Given the description of an element on the screen output the (x, y) to click on. 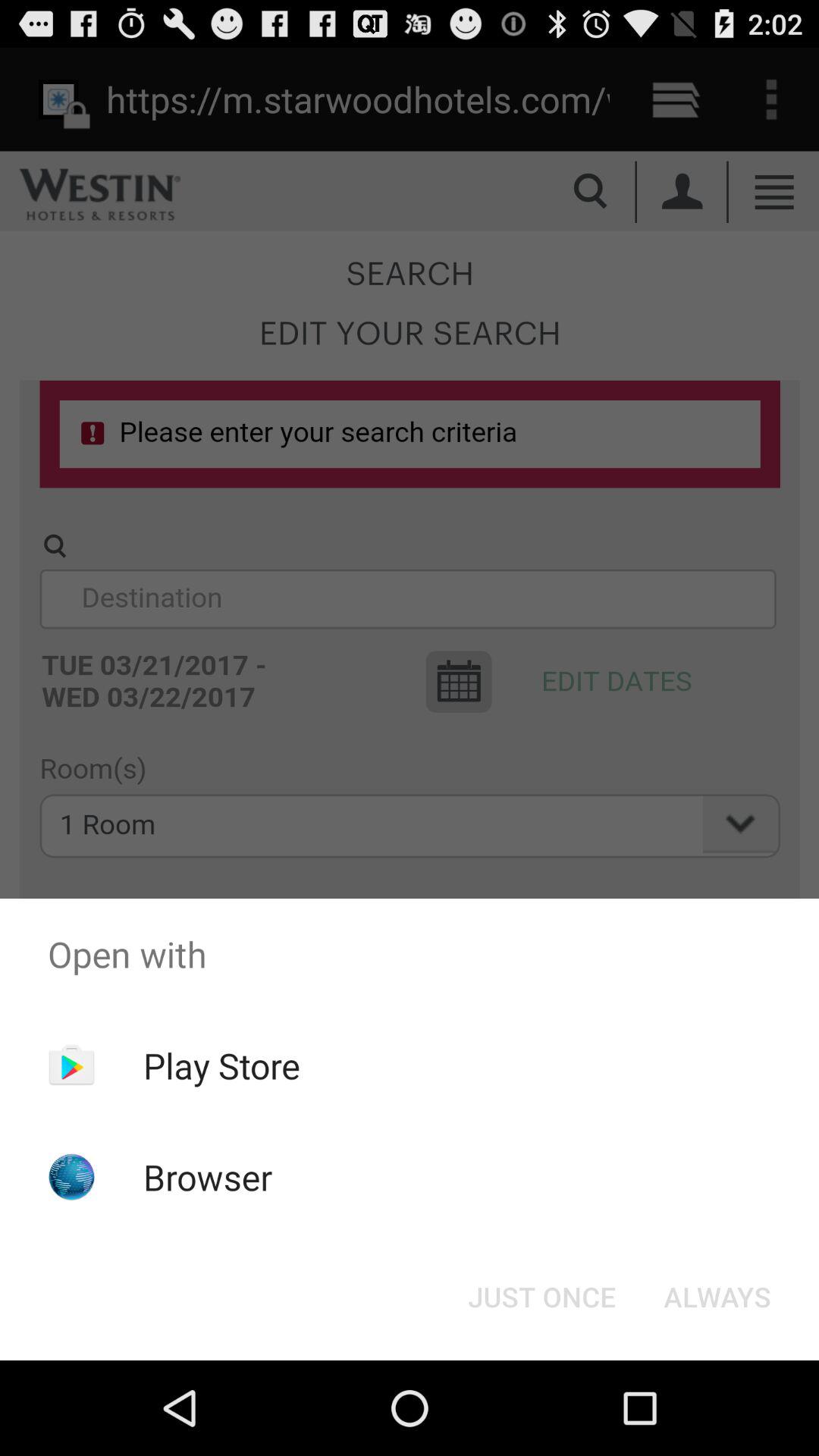
swipe until browser app (207, 1176)
